Given the description of an element on the screen output the (x, y) to click on. 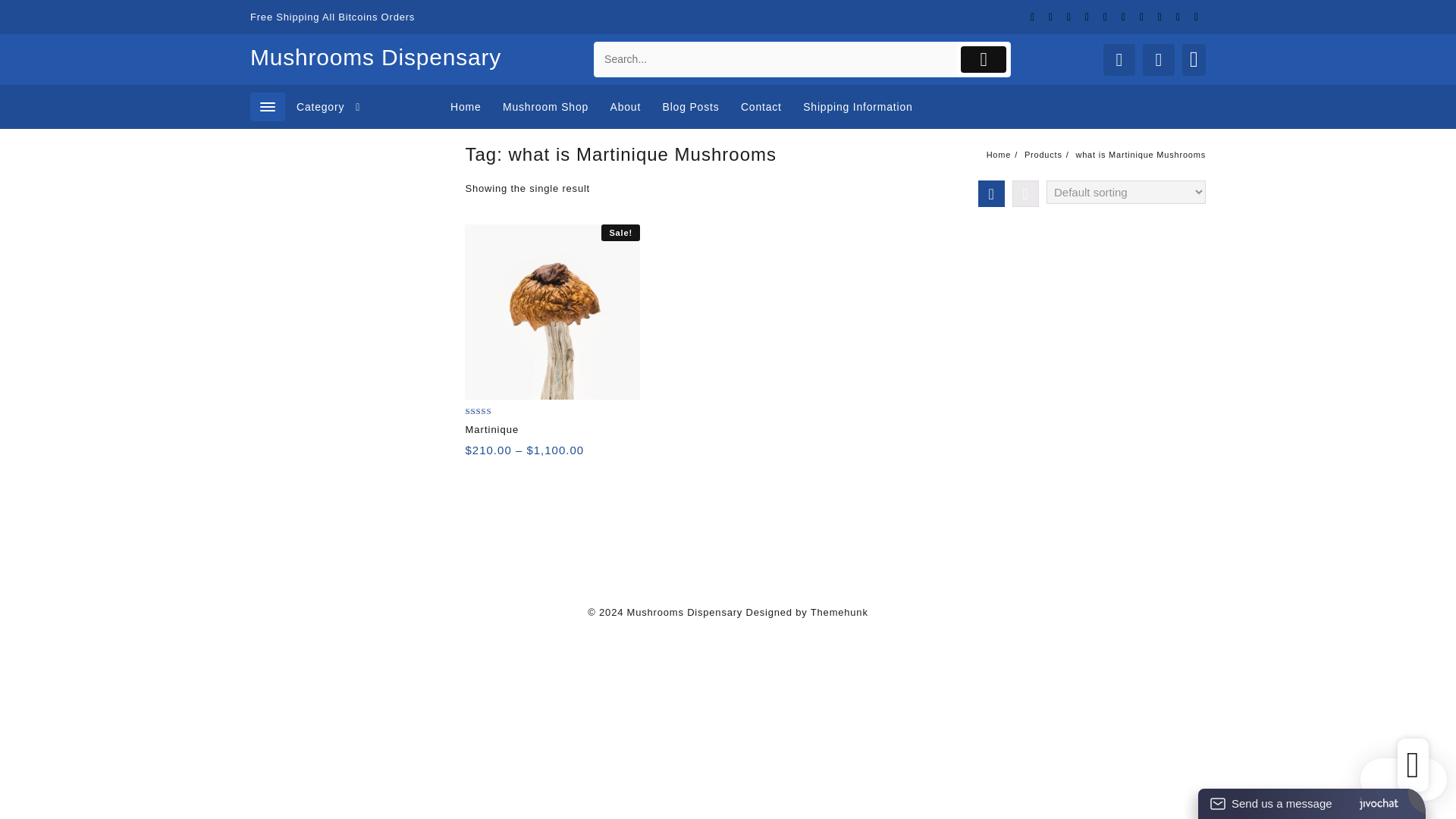
List View (1025, 193)
Search (775, 59)
Grid View (991, 193)
Mushrooms Dispensary (375, 57)
Submit (983, 58)
